Given the description of an element on the screen output the (x, y) to click on. 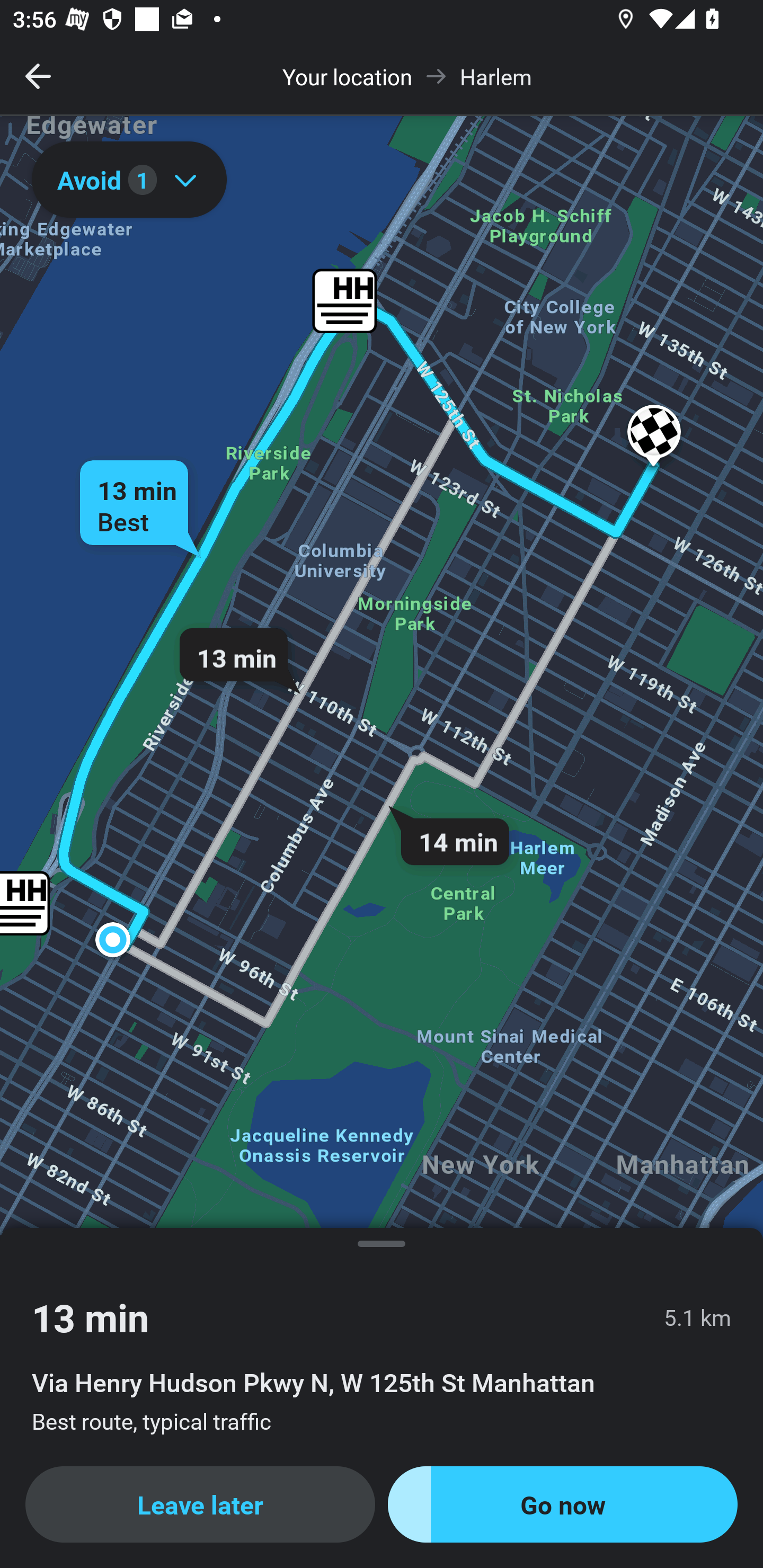
Leave later (200, 1504)
Go now (562, 1504)
